Given the description of an element on the screen output the (x, y) to click on. 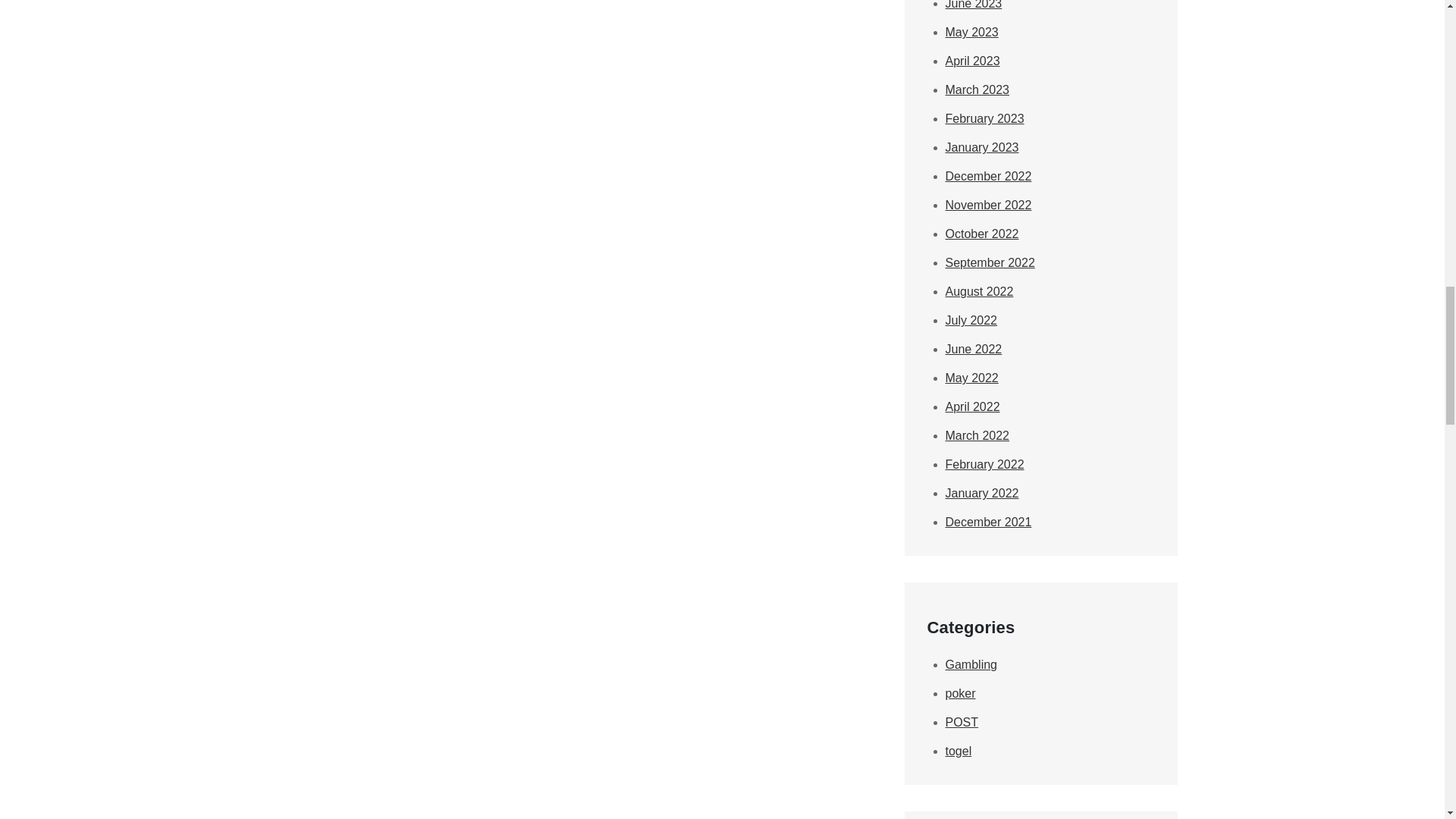
December 2022 (987, 175)
October 2022 (980, 233)
January 2023 (980, 146)
September 2022 (988, 262)
May 2023 (970, 31)
February 2023 (983, 118)
November 2022 (987, 205)
June 2023 (972, 4)
March 2023 (976, 89)
April 2023 (971, 60)
